Given the description of an element on the screen output the (x, y) to click on. 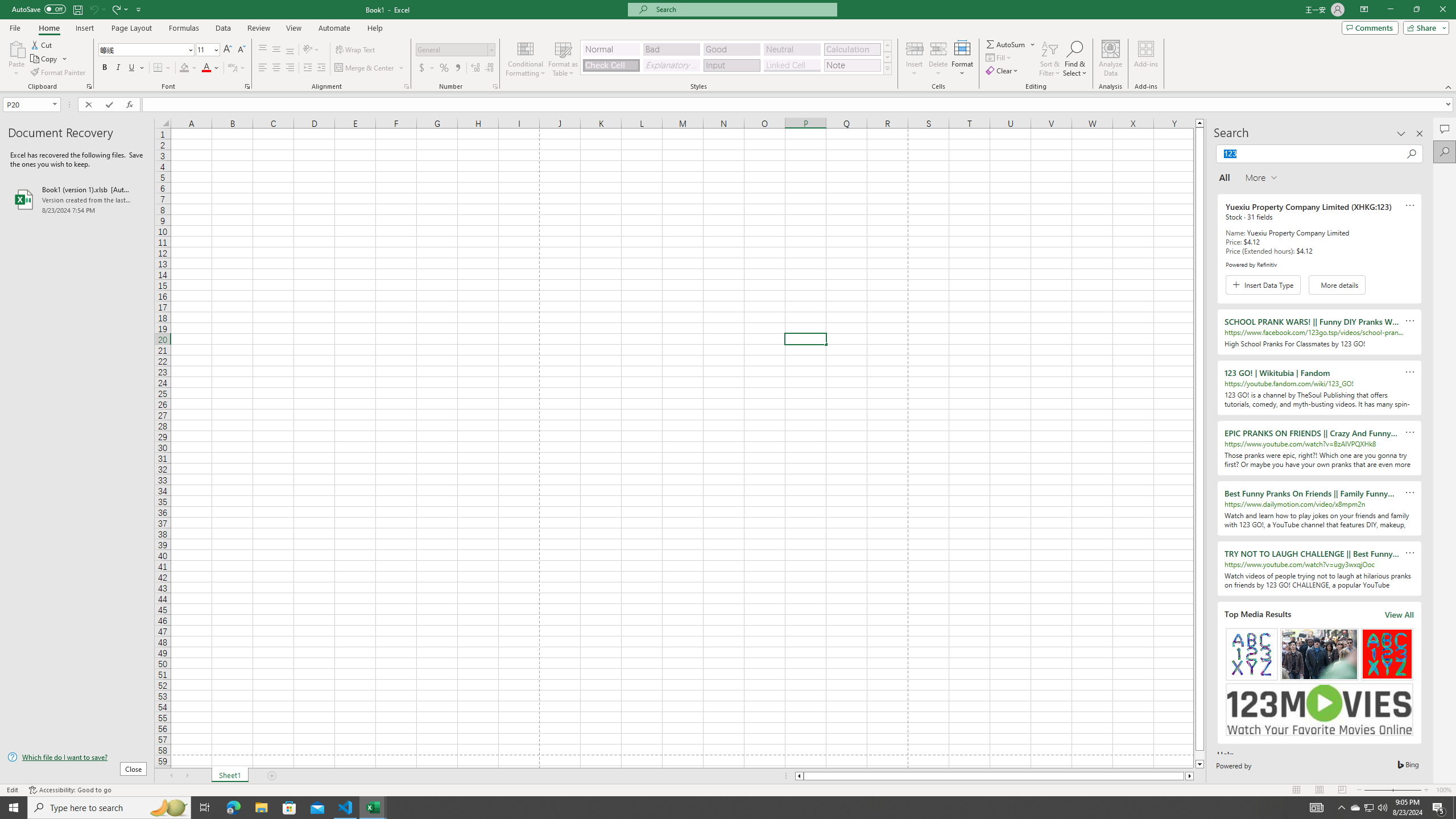
Check Cell (611, 65)
Find & Select (1075, 58)
Accounting Number Format (426, 67)
Bold (104, 67)
Font Size (204, 49)
Copy (49, 58)
Calculation (852, 49)
Bottom Align (290, 49)
Conditional Formatting (525, 58)
Analyze Data (1110, 58)
Format Cell Font (247, 85)
